Given the description of an element on the screen output the (x, y) to click on. 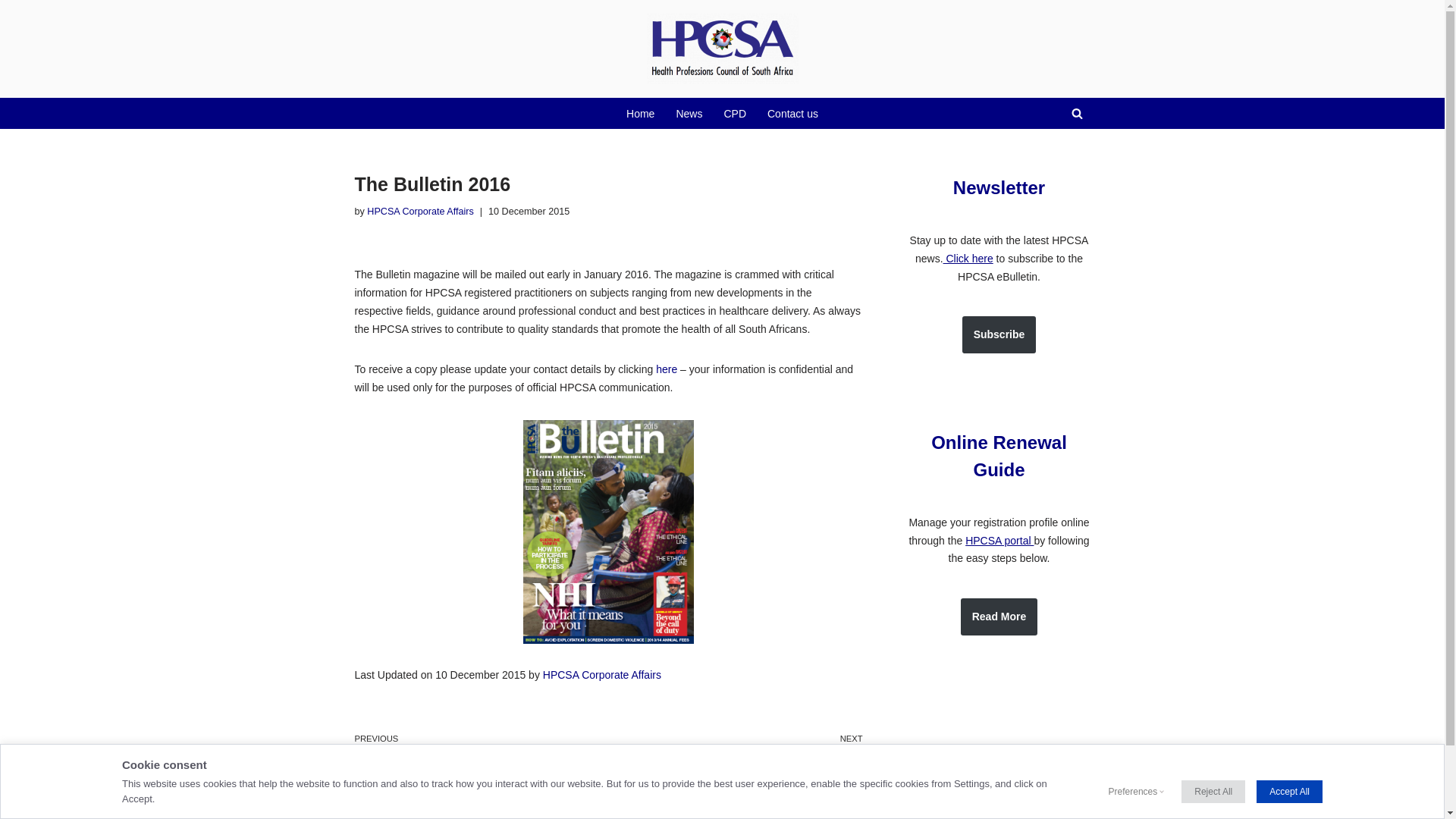
HPCSA Corporate Affairs (419, 211)
Accept All (1289, 791)
HPCSA Corporate Affairs (738, 748)
Reject All (602, 674)
CPD (1212, 791)
HPCSA portal (734, 113)
News (999, 540)
Read More (688, 113)
Subscribe (999, 616)
Posts by HPCSA Corporate Affairs (999, 334)
Skip to content (419, 211)
Preferences (11, 31)
Newsletter (1133, 791)
Home (999, 187)
